Given the description of an element on the screen output the (x, y) to click on. 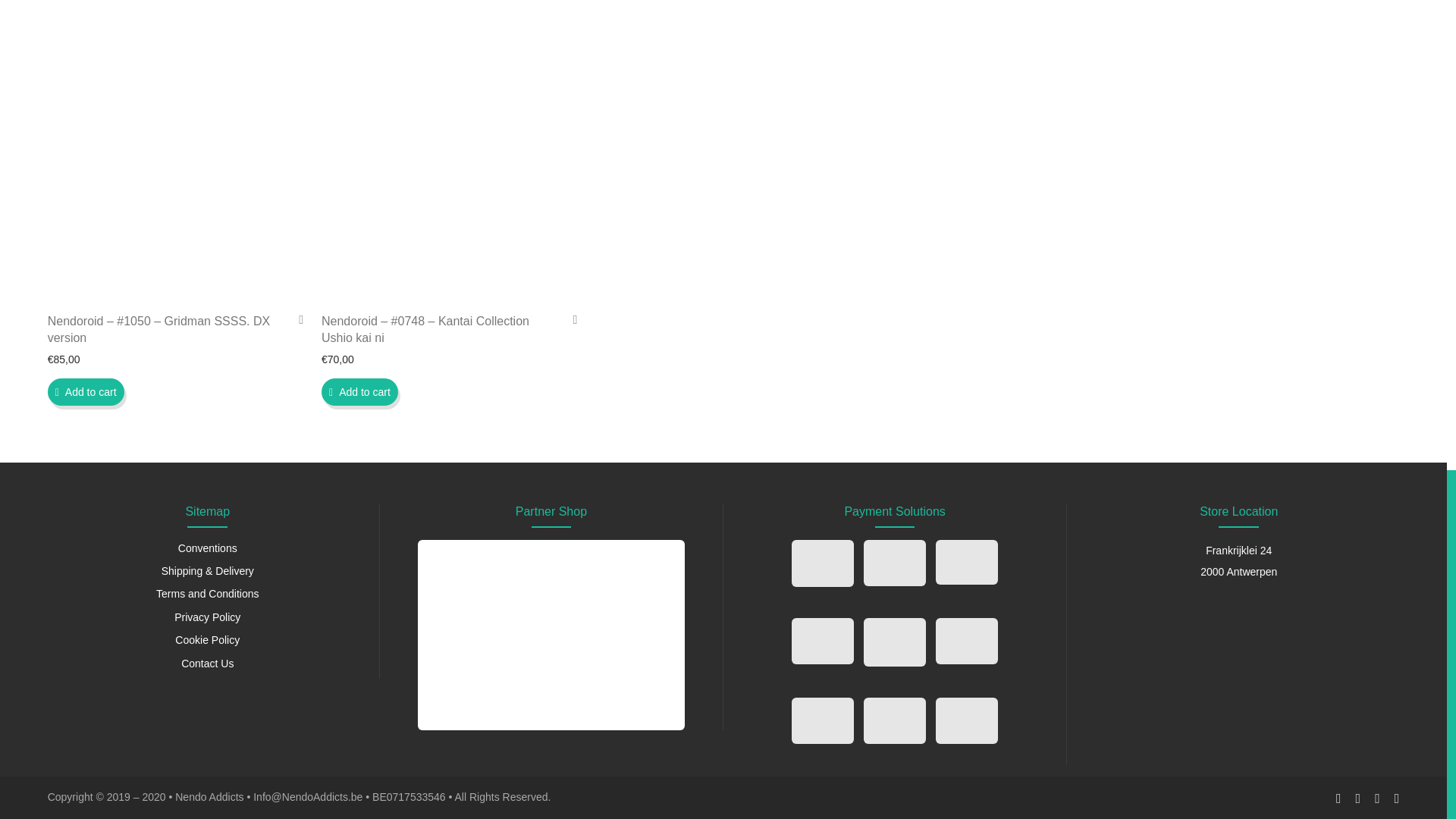
Add to Wishlist (569, 318)
Add to Wishlist (295, 318)
